Given the description of an element on the screen output the (x, y) to click on. 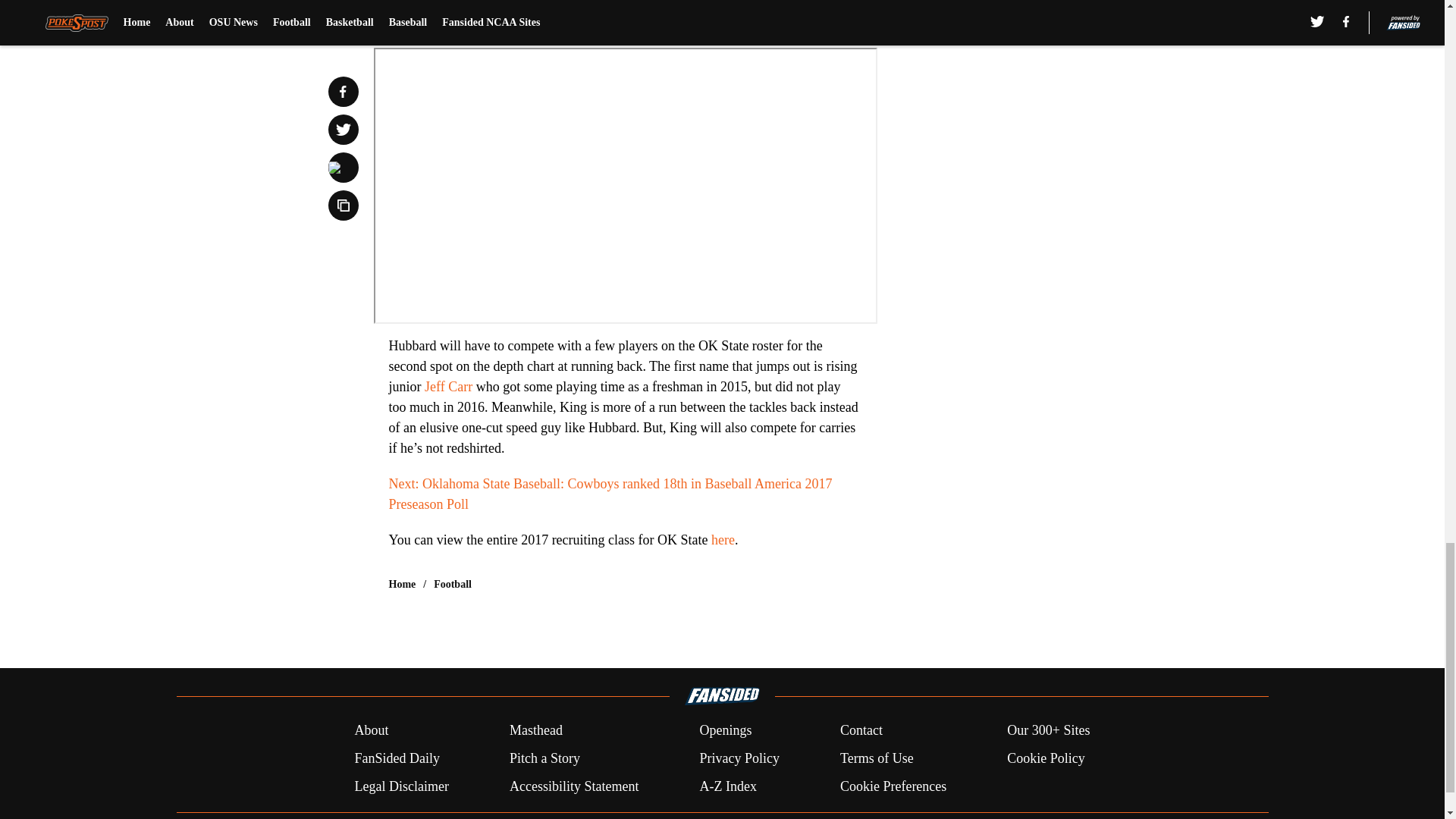
About (370, 730)
here (723, 539)
FanSided Daily (396, 758)
Openings (724, 730)
Contact (861, 730)
Jeff Carr (448, 386)
Home (401, 584)
Privacy Policy (738, 758)
Cookie Policy (1045, 758)
Pitch a Story (544, 758)
Terms of Use (877, 758)
Football (452, 584)
Masthead (535, 730)
